Given the description of an element on the screen output the (x, y) to click on. 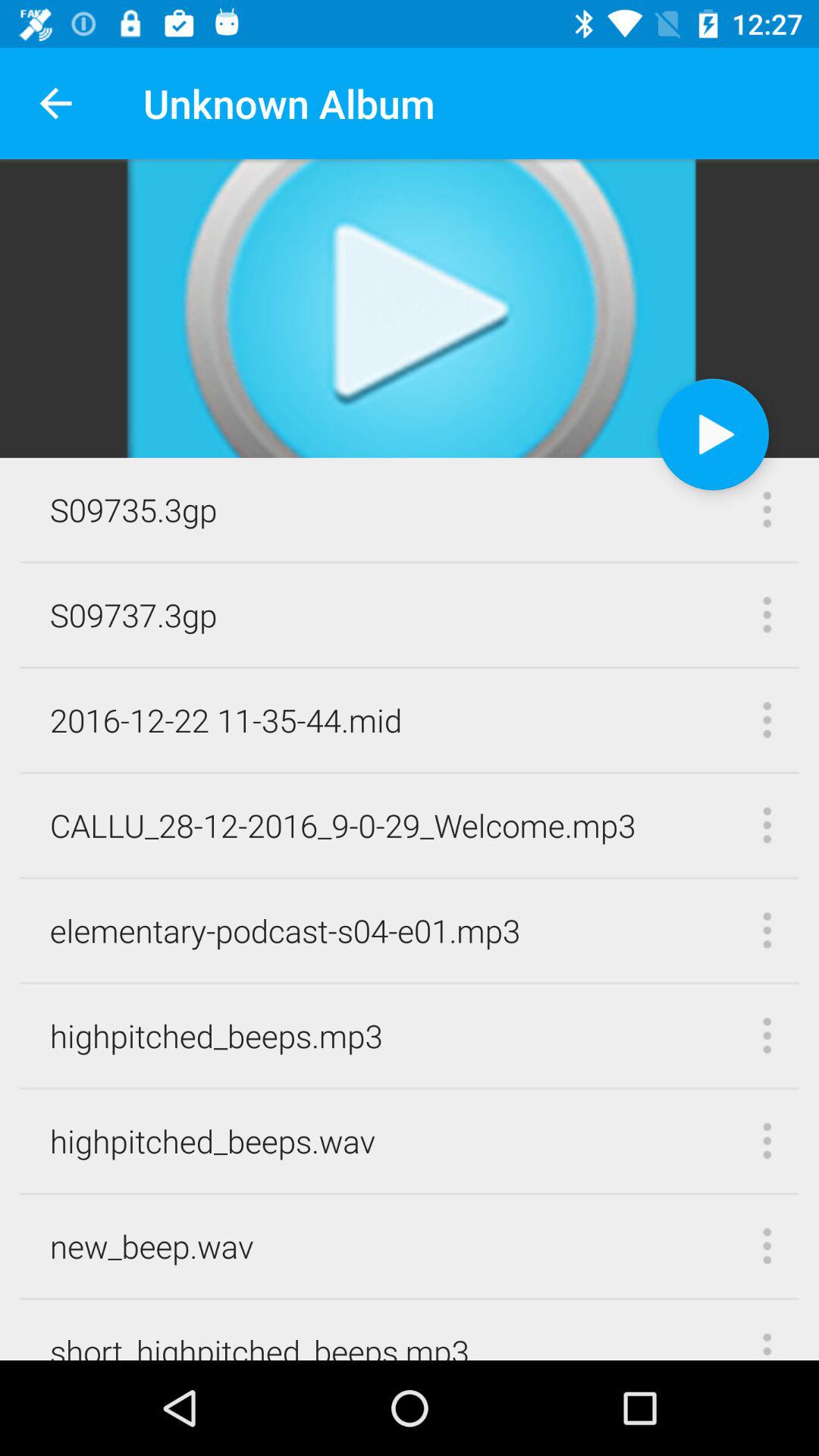
click icon to the left of unknown album app (55, 103)
